Given the description of an element on the screen output the (x, y) to click on. 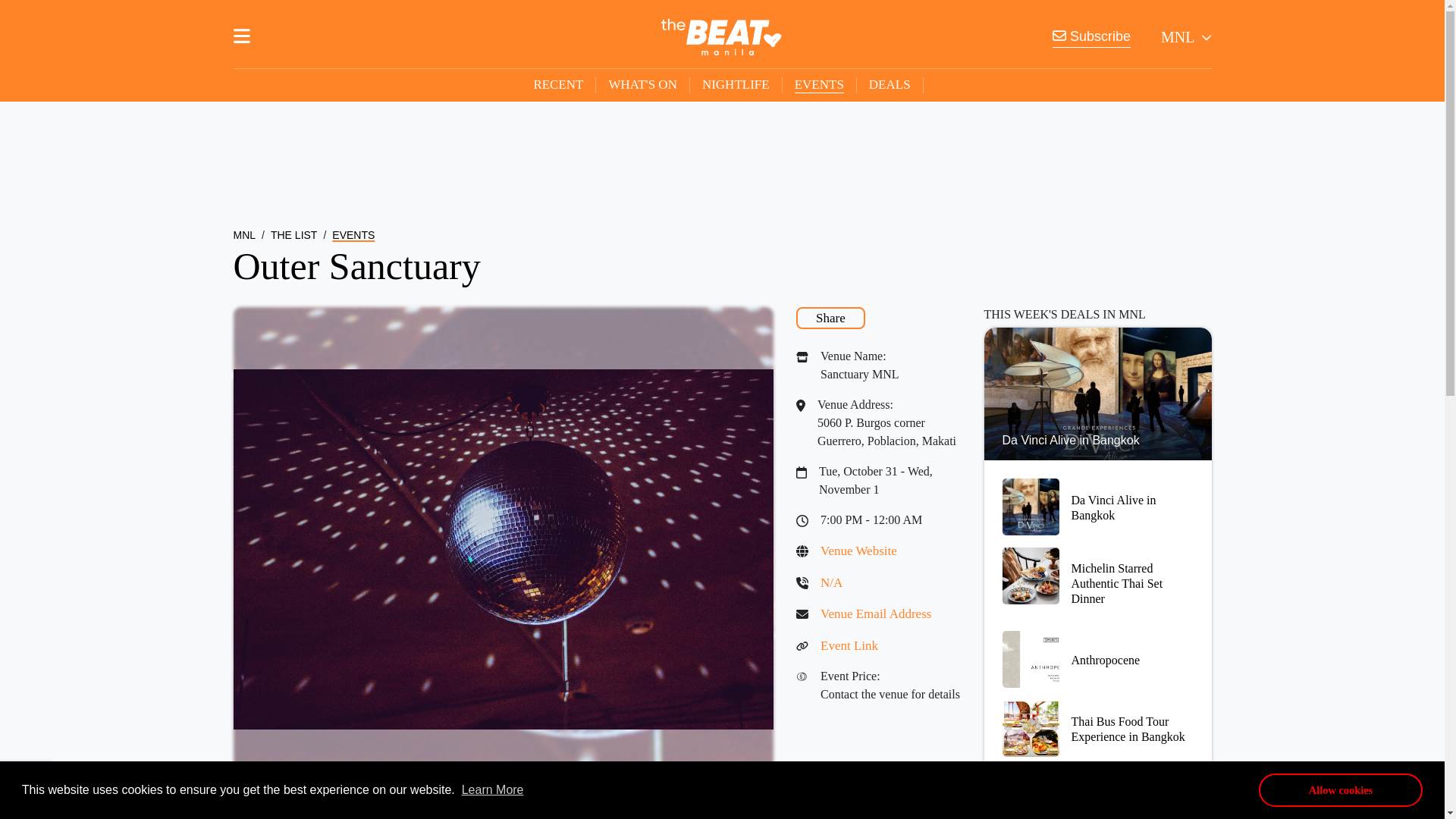
Subscribe (1091, 36)
Allow cookies (1340, 789)
3rd party ad content (721, 153)
reCAPTCHA (26, 785)
Learn More (492, 789)
